Given the description of an element on the screen output the (x, y) to click on. 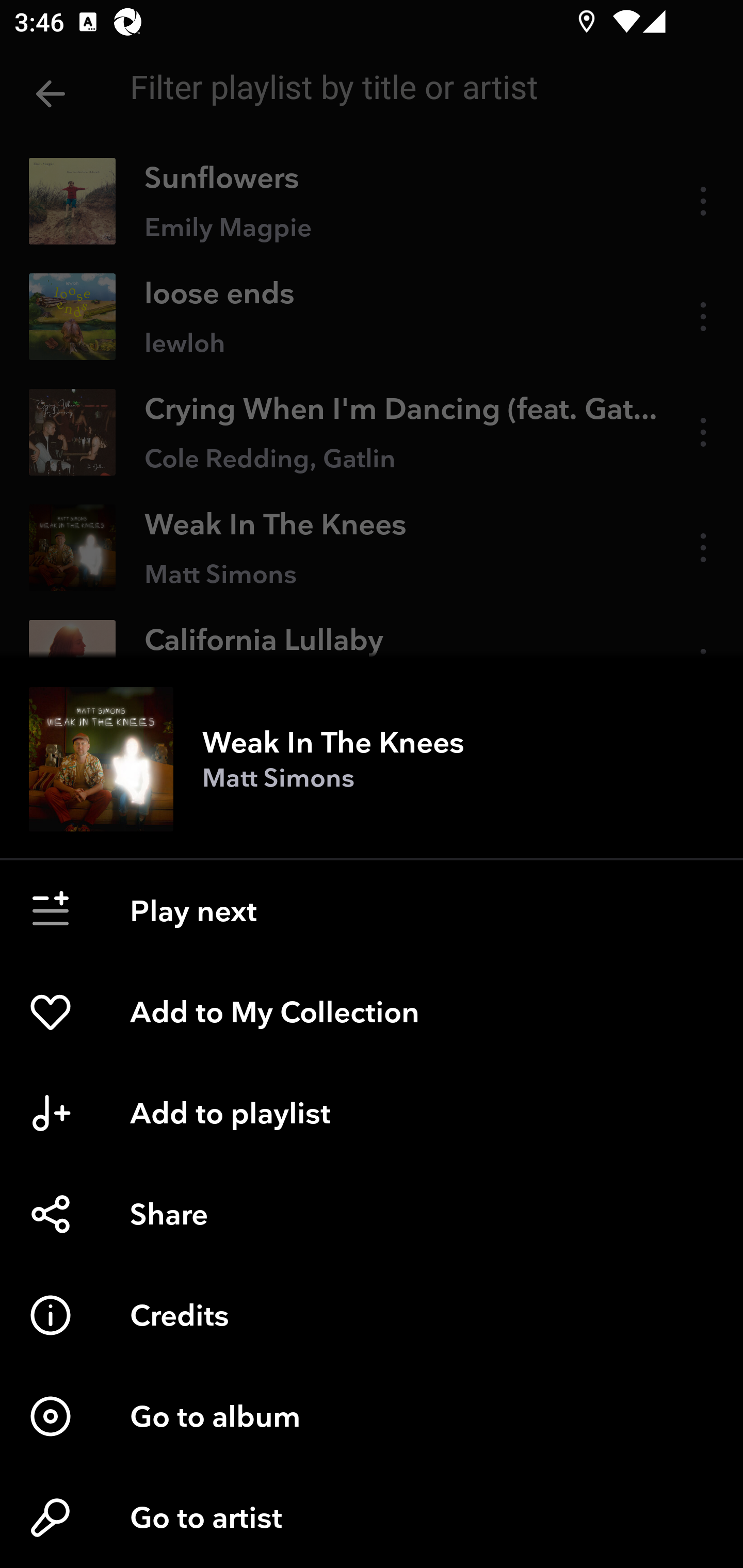
Play next (371, 910)
Add to My Collection (371, 1012)
Add to playlist (371, 1113)
Share (371, 1214)
Credits (371, 1315)
Go to album (371, 1416)
Go to artist (371, 1517)
